Given the description of an element on the screen output the (x, y) to click on. 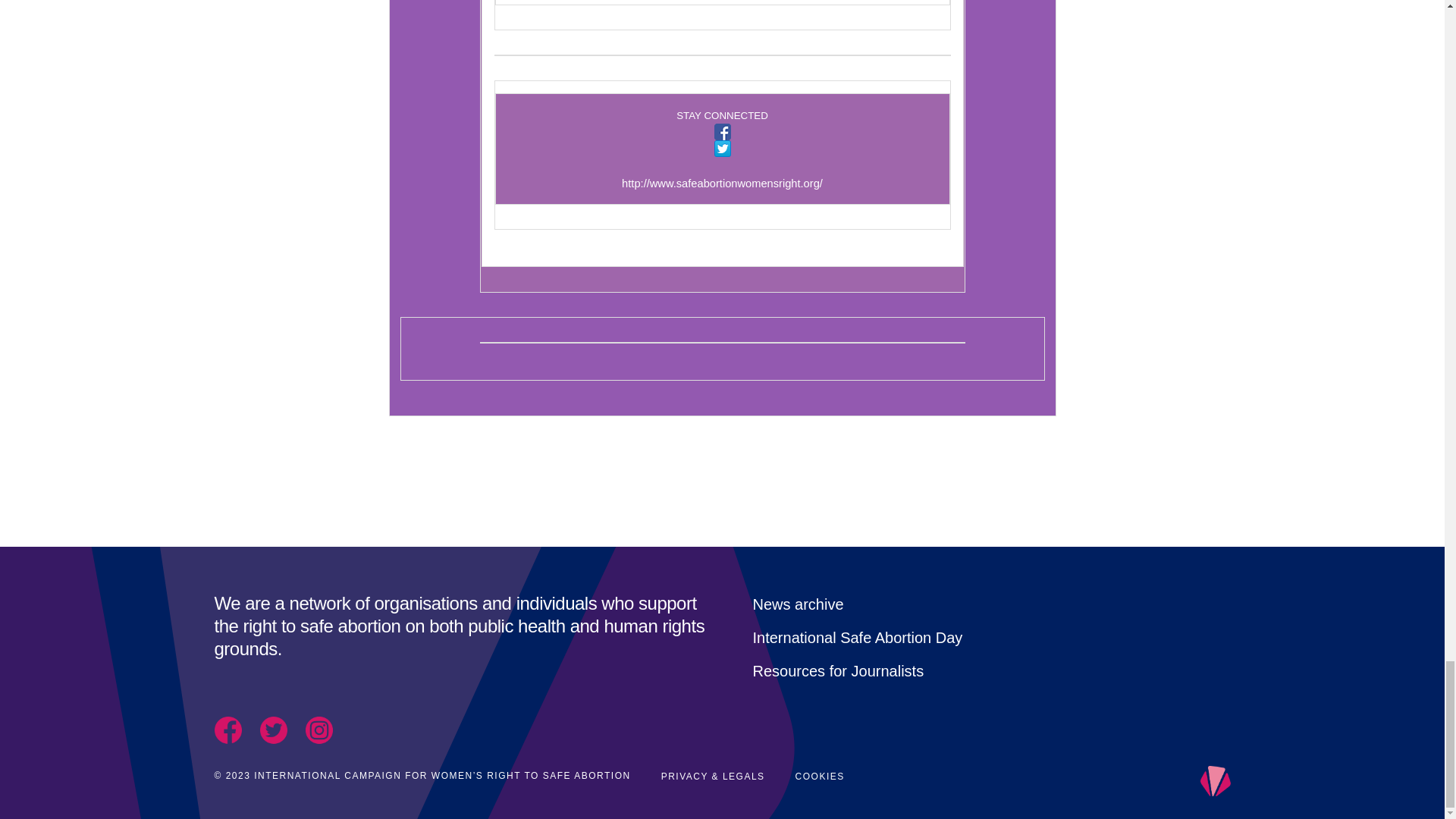
Follow us on Twitter (722, 148)
